Given the description of an element on the screen output the (x, y) to click on. 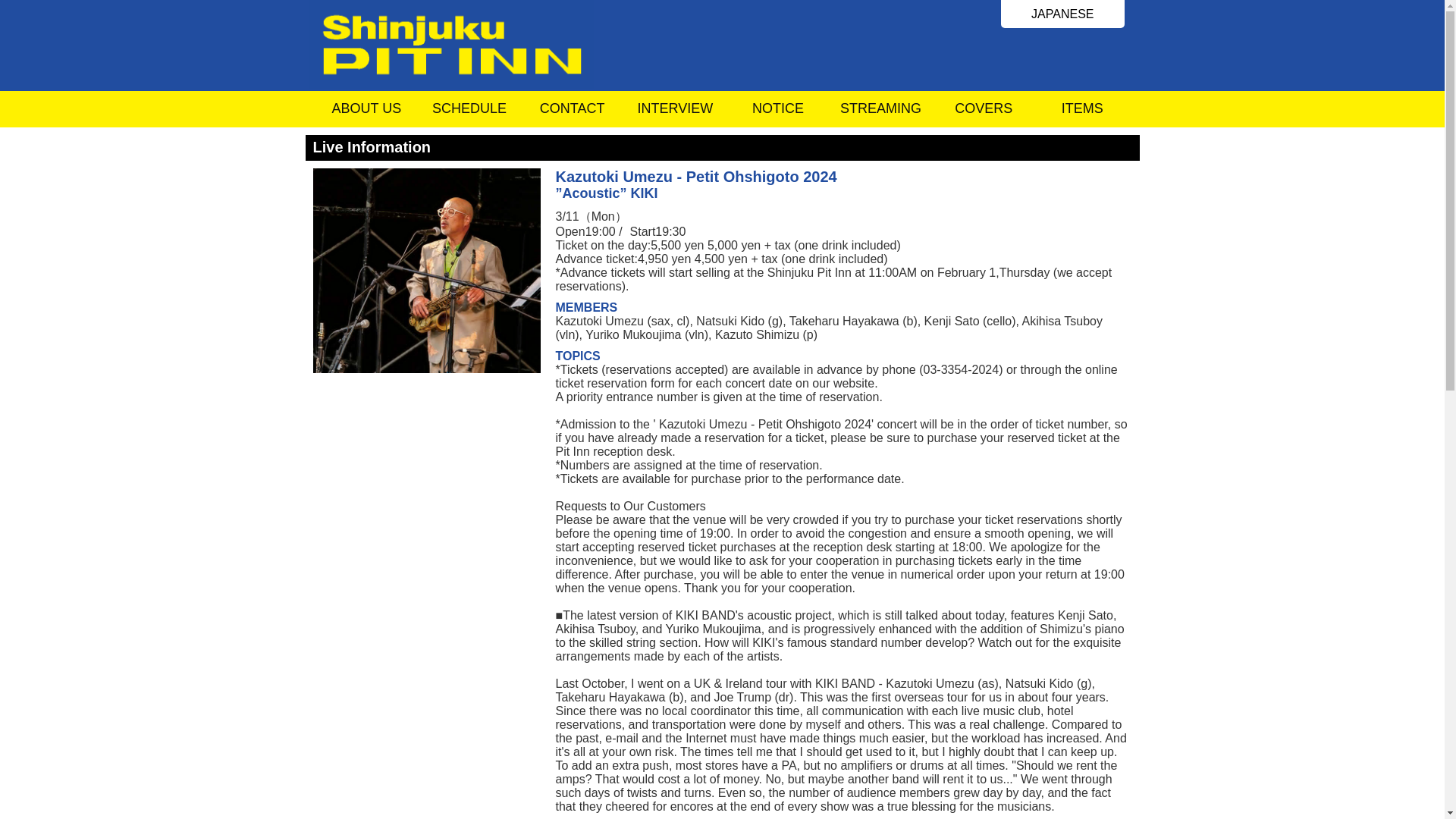
ABOUT US (367, 112)
JAPANESE (1062, 13)
CONTACT (572, 112)
COVERS (983, 112)
INTERVIEW (674, 112)
SCHEDULE (469, 112)
ITEMS (1082, 112)
STREAMING (881, 112)
NOTICE (777, 112)
